Given the description of an element on the screen output the (x, y) to click on. 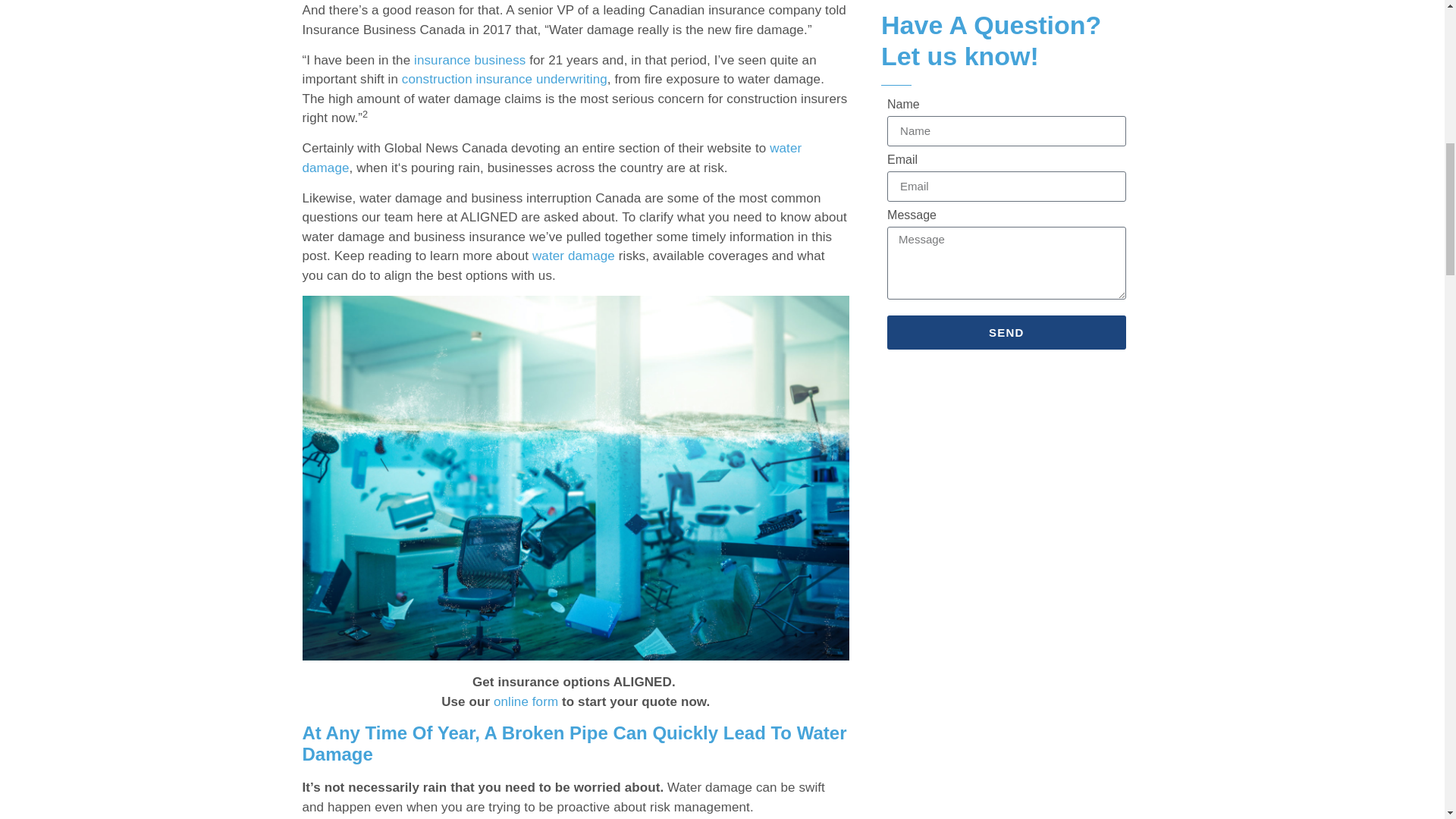
insurance business (469, 60)
water damage (551, 157)
construction insurance underwriting (504, 79)
water damage (573, 255)
